Given the description of an element on the screen output the (x, y) to click on. 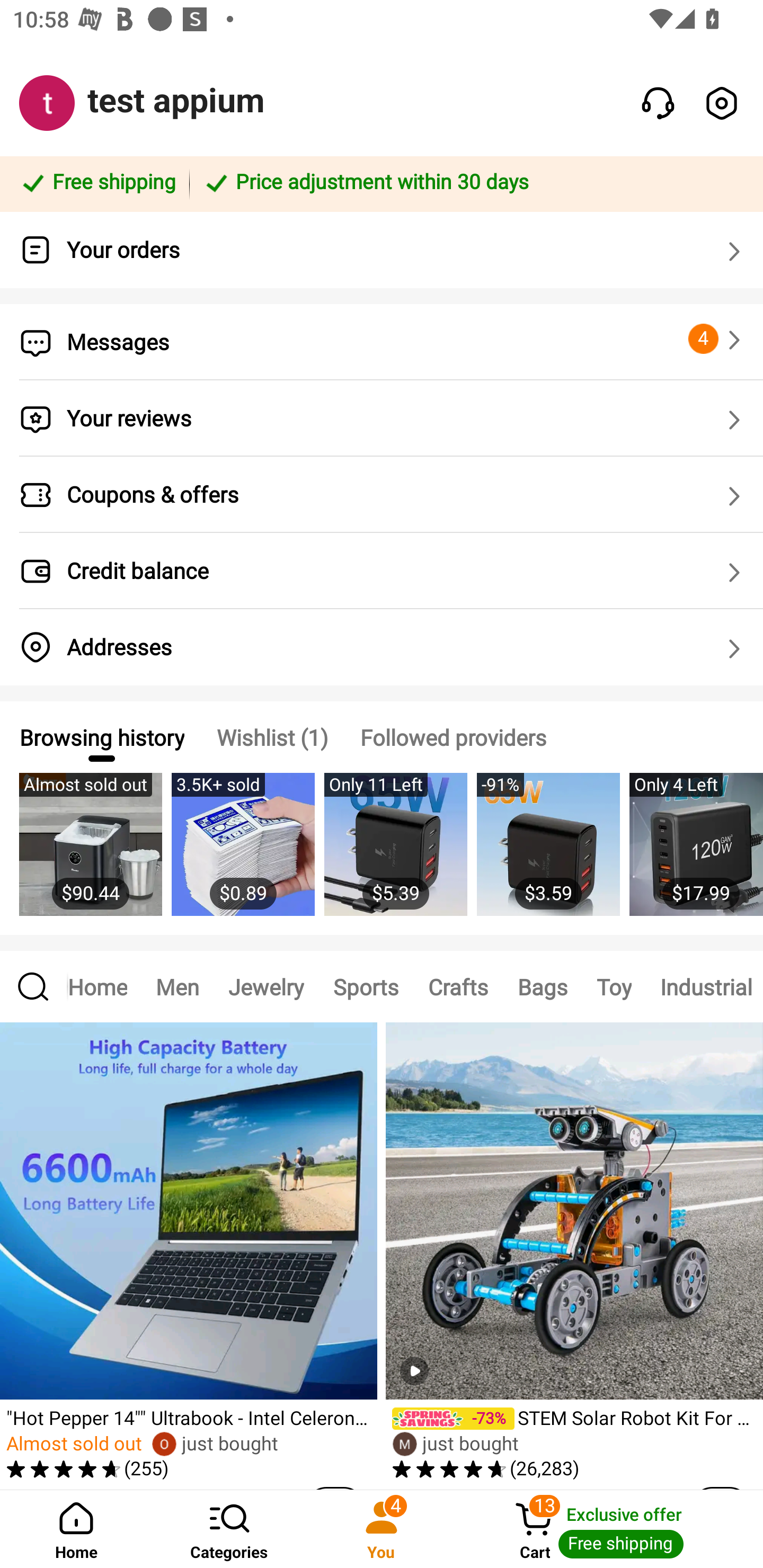
test appium (175, 100)
Free shipping (97, 183)
Price adjustment within 30 days (472, 183)
Your orders (381, 249)
Messages 4 (381, 342)
4 (717, 339)
Your reviews (381, 418)
Coupons & offers (381, 494)
Credit balance (381, 571)
Addresses (381, 647)
Browsing history (101, 736)
Wishlist (1) (271, 736)
Followed providers (453, 736)
Almost sold out $90.44 (90, 853)
3.5K+ sold $0.89 (242, 853)
Only 11 Left $5.39 (395, 853)
-91% $3.59 (547, 853)
Only 4 Left $17.99 (696, 853)
Home (104, 986)
Men (177, 986)
Jewelry (265, 986)
Sports (365, 986)
Crafts (457, 986)
Bags (541, 986)
Toy (613, 986)
Industrial (704, 986)
Home (76, 1528)
Categories (228, 1528)
You 4 You (381, 1528)
Cart 13 Cart Exclusive offer (610, 1528)
